Given the description of an element on the screen output the (x, y) to click on. 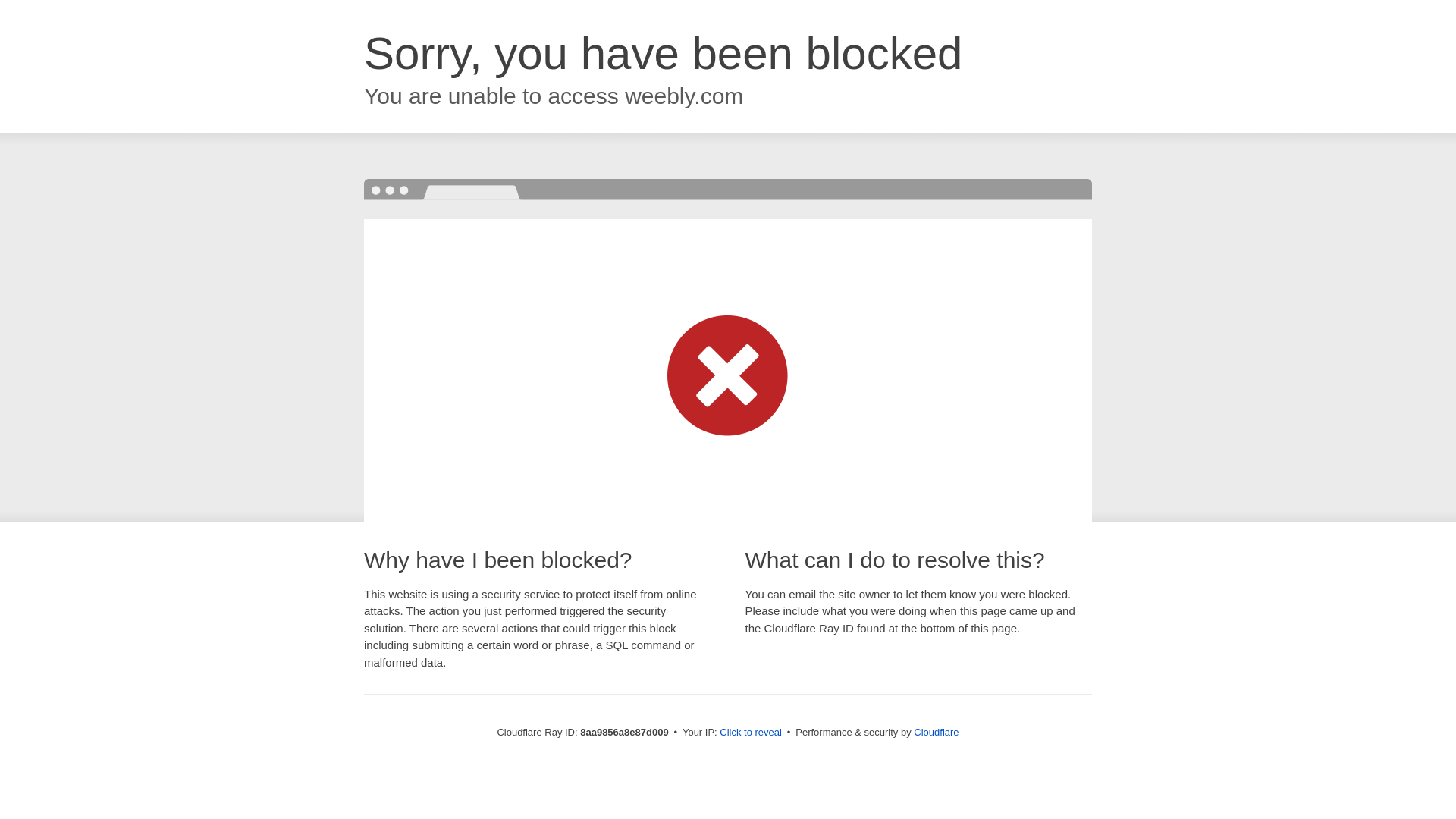
Cloudflare (936, 731)
Click to reveal (750, 732)
